Given the description of an element on the screen output the (x, y) to click on. 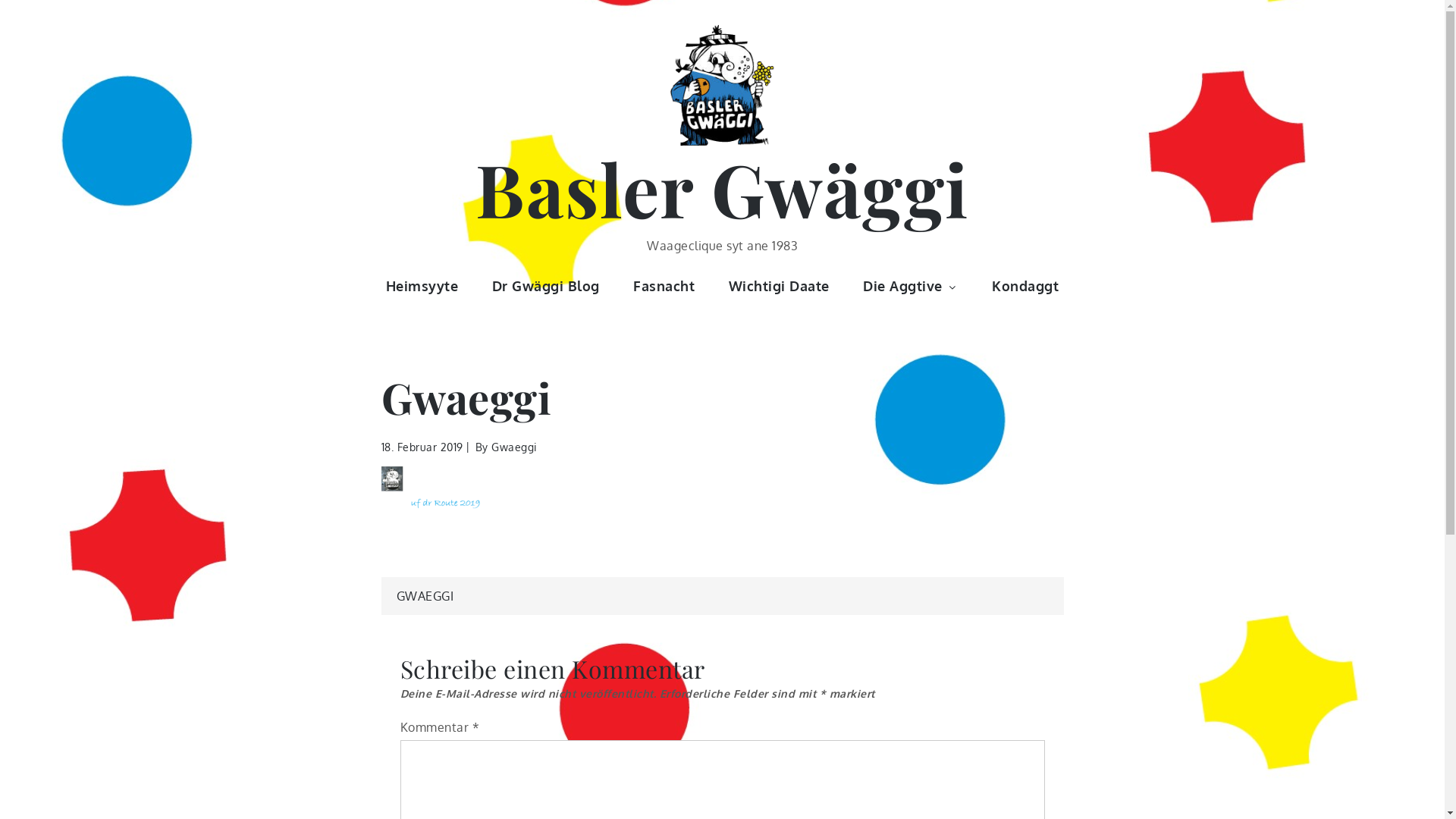
Gwaeggi Element type: text (514, 446)
Kondaggt Element type: text (1024, 285)
Die Aggtive Element type: text (910, 285)
18. Februar 2019 Element type: text (421, 446)
Fasnacht Element type: text (663, 285)
Wichtigi Daate Element type: text (778, 285)
Heimsyyte Element type: text (421, 285)
GWAEGGI Element type: text (424, 595)
